Given the description of an element on the screen output the (x, y) to click on. 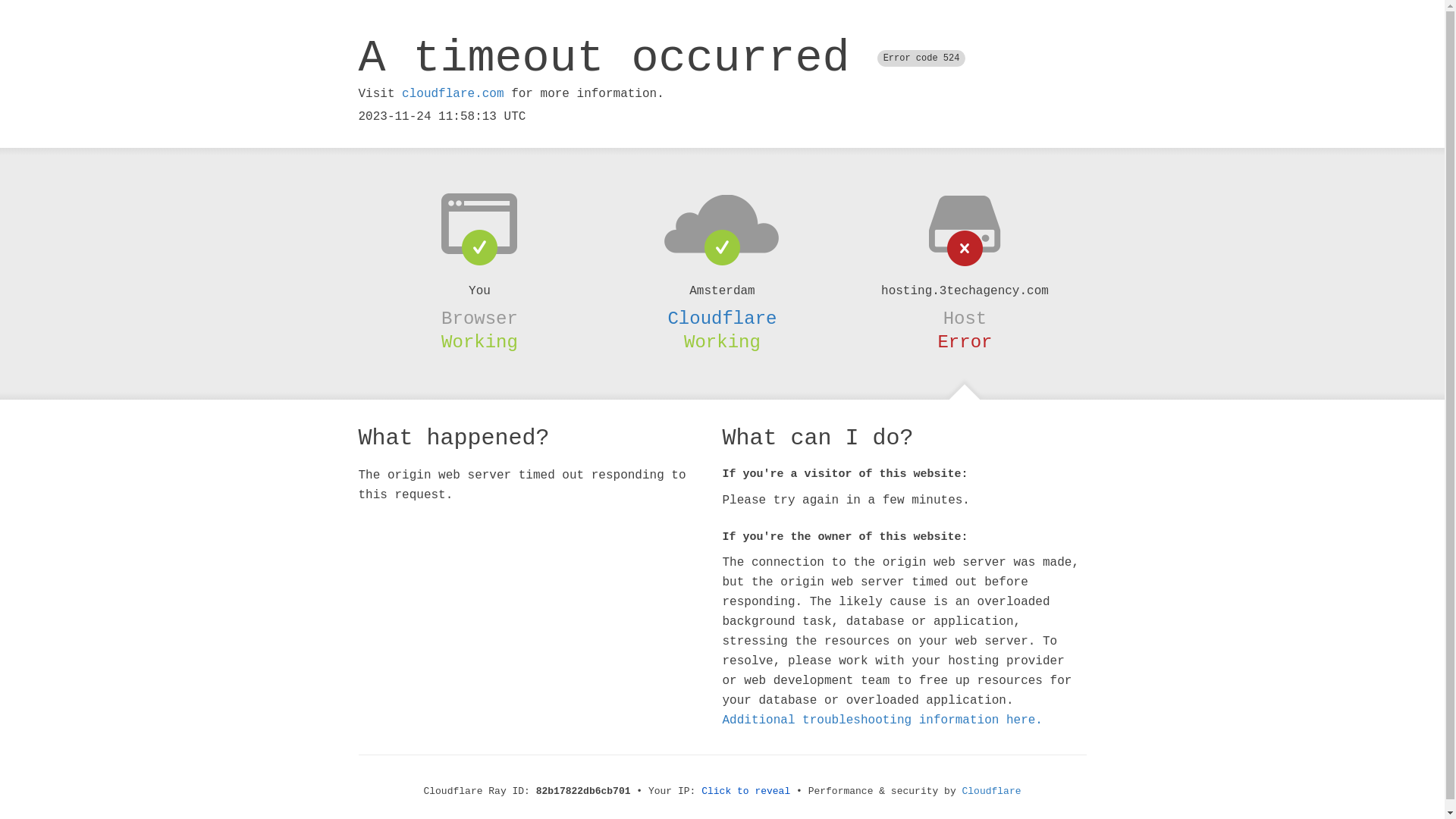
Additional troubleshooting information here. Element type: text (881, 720)
Cloudflare Element type: text (991, 791)
cloudflare.com Element type: text (452, 93)
Click to reveal Element type: text (745, 791)
Cloudflare Element type: text (721, 318)
